Given the description of an element on the screen output the (x, y) to click on. 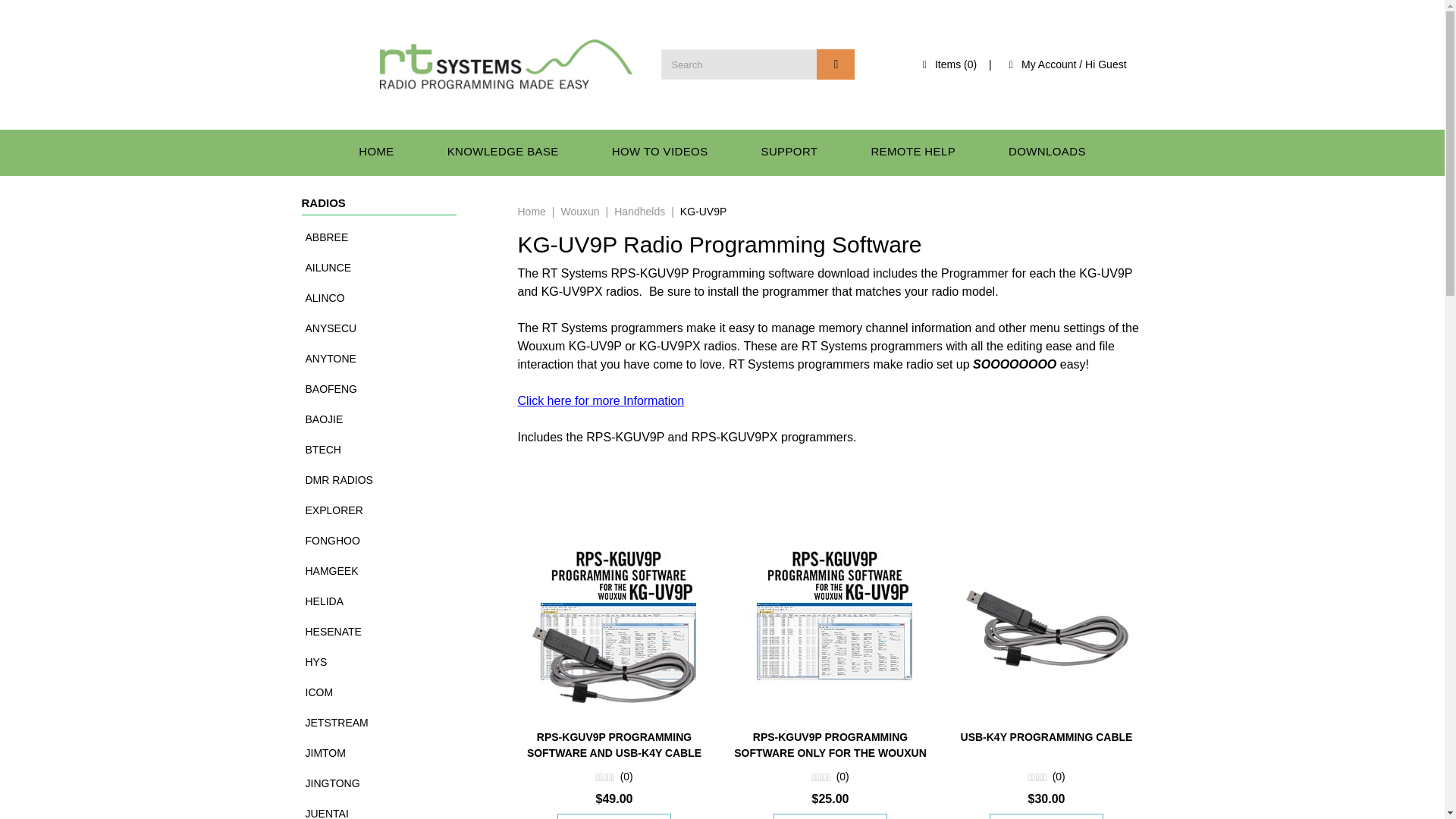
HOME (376, 152)
EXPLORER (398, 510)
BTECH (398, 449)
HYS (398, 662)
AILUNCE (398, 267)
JUENTAI (398, 808)
REMOTE HELP (912, 152)
HELIDA (398, 601)
KNOWLEDGE BASE (502, 152)
JINGTONG (398, 783)
ANYSECU (398, 327)
FONGHOO (398, 540)
JETSTREAM (398, 722)
BAOFENG (398, 388)
BAOJIE (398, 419)
